Given the description of an element on the screen output the (x, y) to click on. 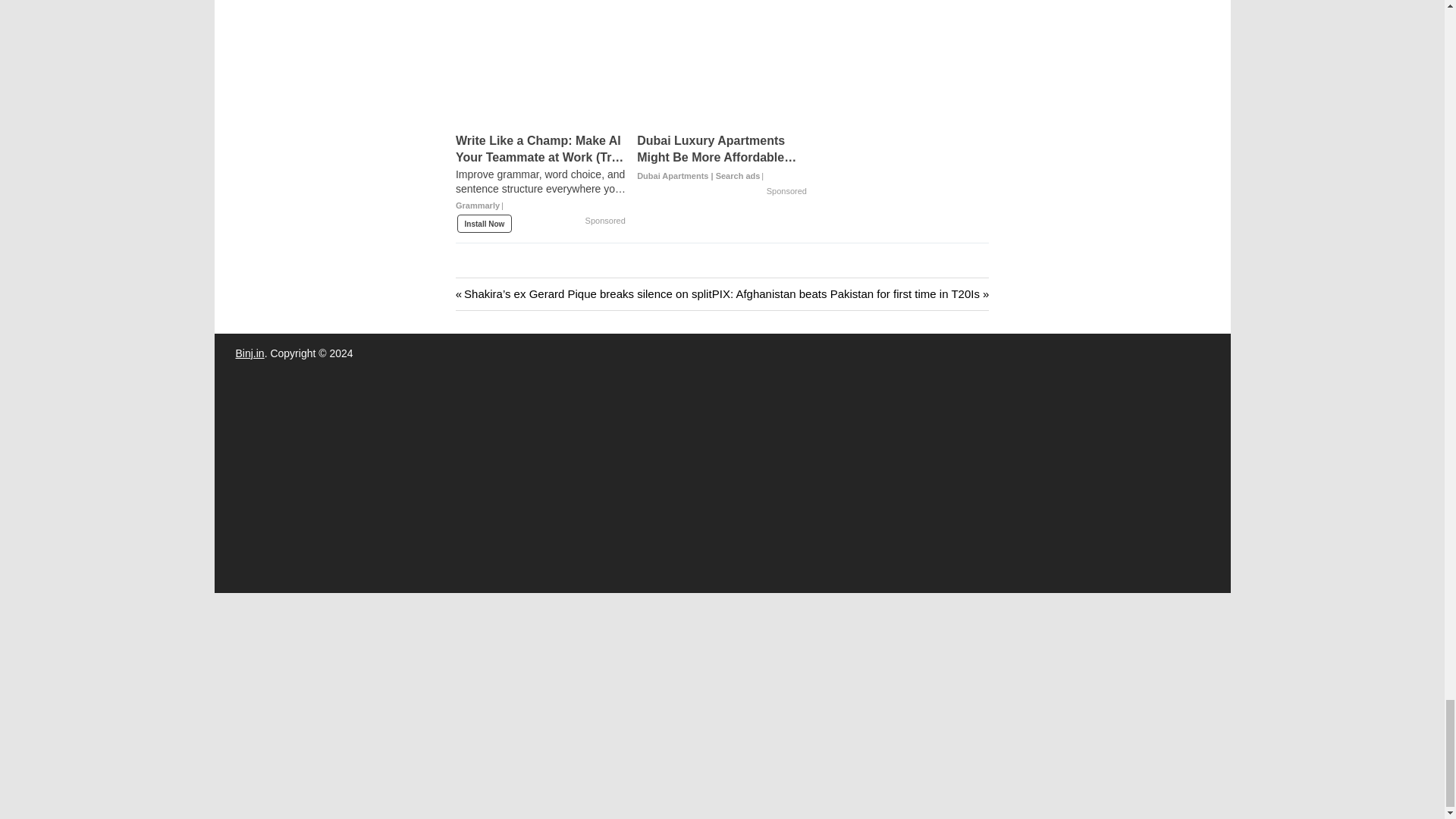
Sponsored (605, 221)
Install Now (484, 223)
Sponsored (786, 191)
